Given the description of an element on the screen output the (x, y) to click on. 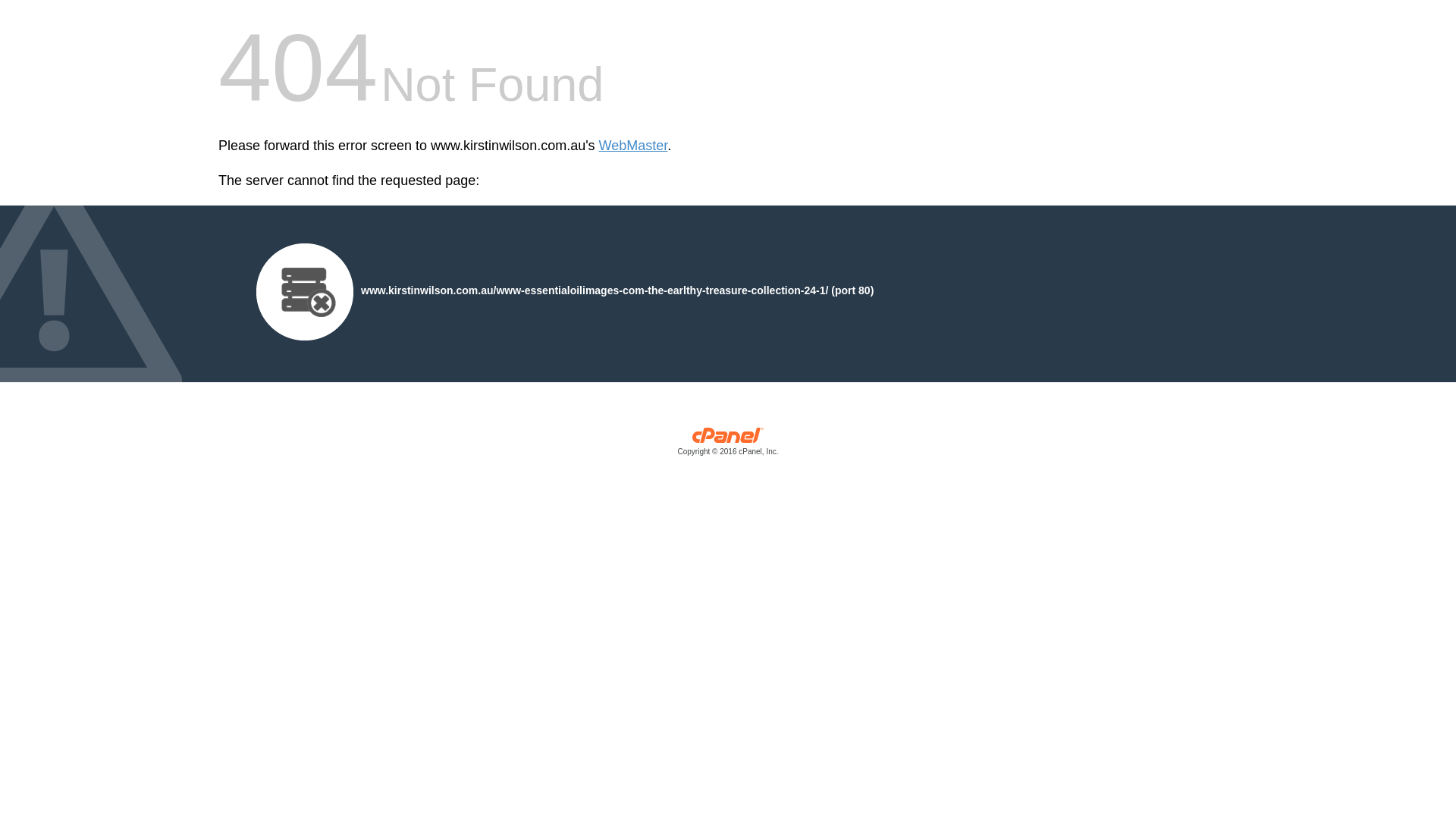
WebMaster Element type: text (633, 145)
